Given the description of an element on the screen output the (x, y) to click on. 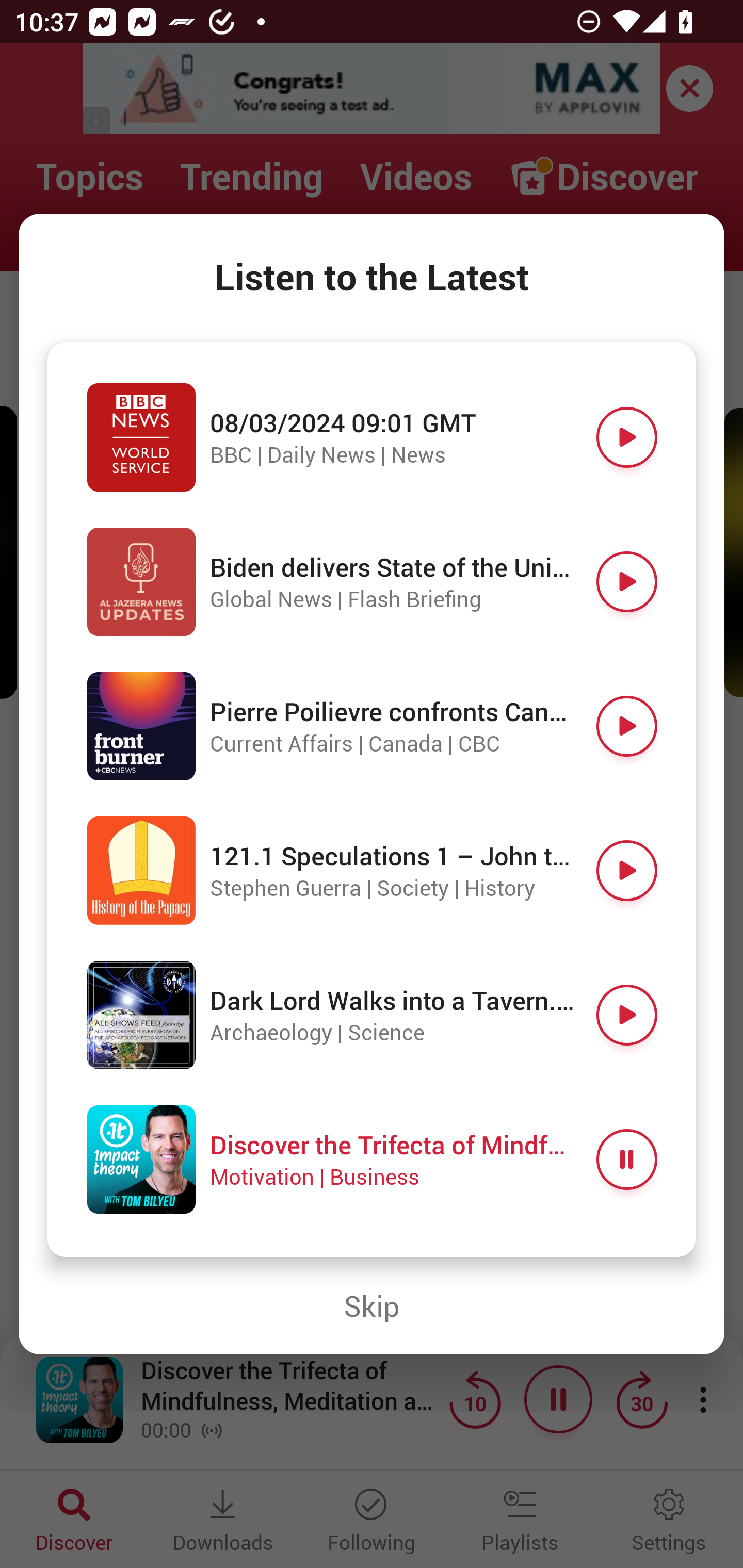
Skip (371, 1305)
